Given the description of an element on the screen output the (x, y) to click on. 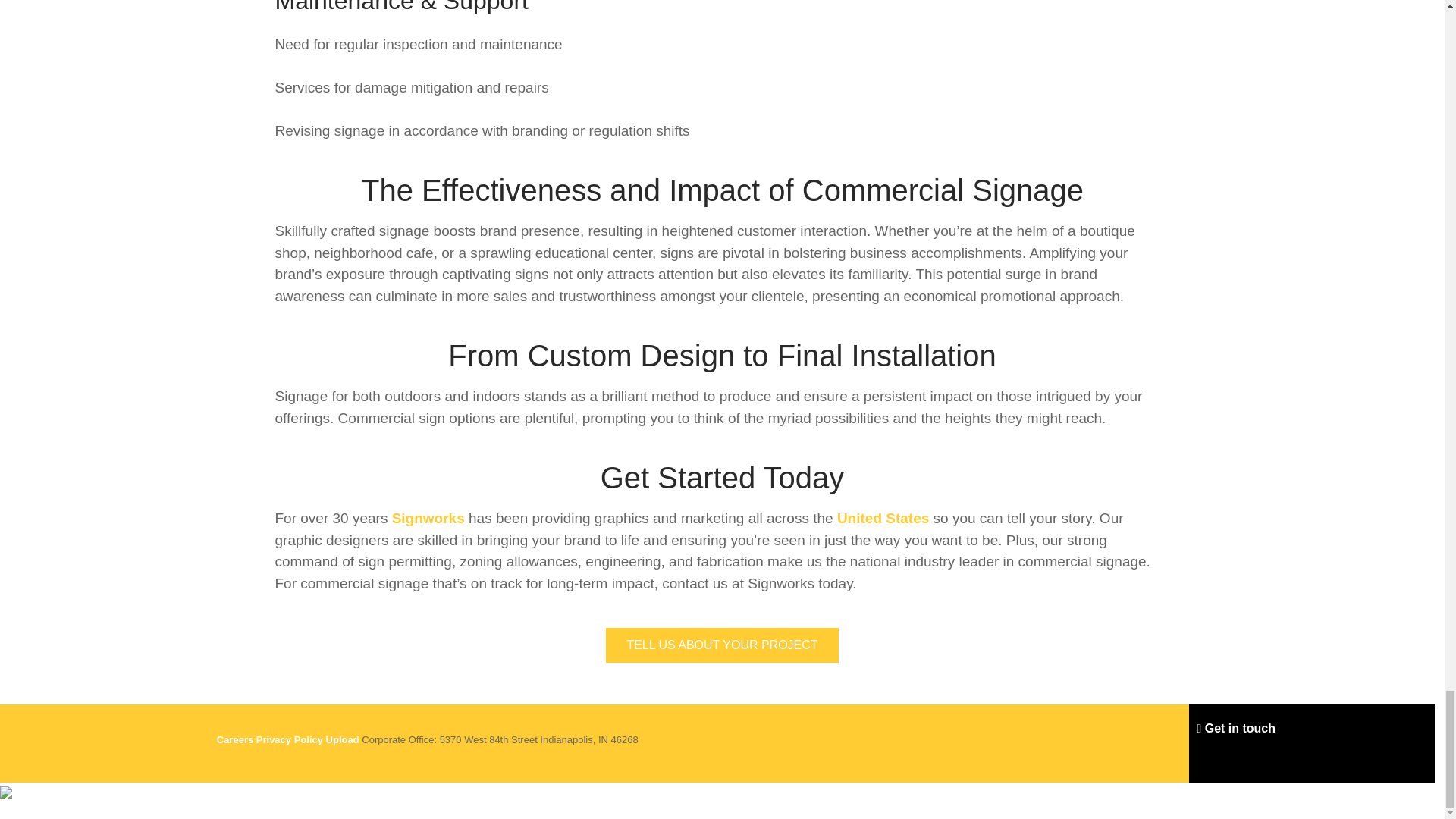
Get in touch (1235, 727)
Careers (236, 739)
Signworks (427, 518)
Privacy Policy (289, 739)
United States (882, 518)
Upload (342, 739)
TELL US ABOUT YOUR PROJECT (721, 645)
